Given the description of an element on the screen output the (x, y) to click on. 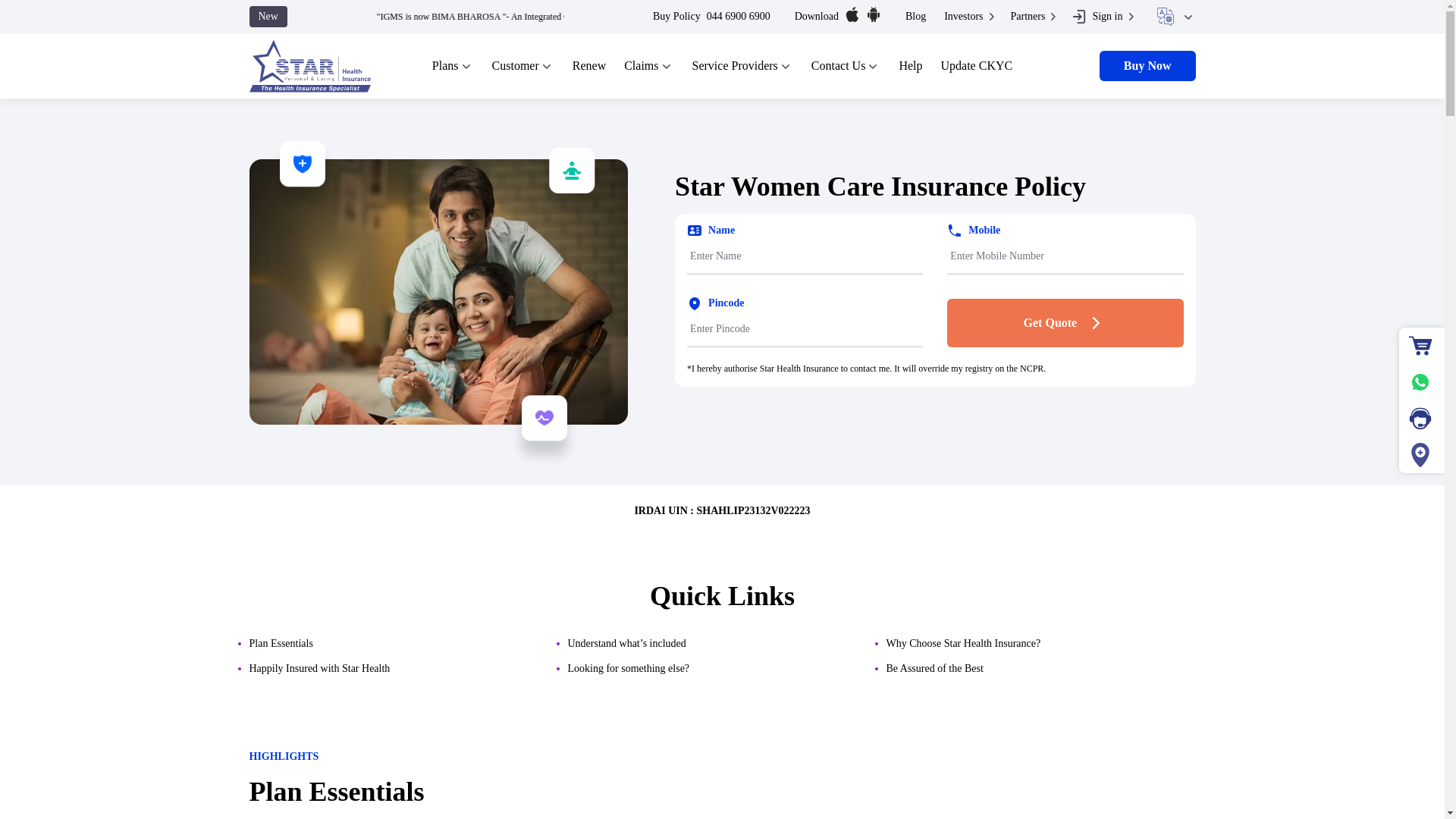
044 6900 6900 (738, 16)
Blog (915, 16)
